Given the description of an element on the screen output the (x, y) to click on. 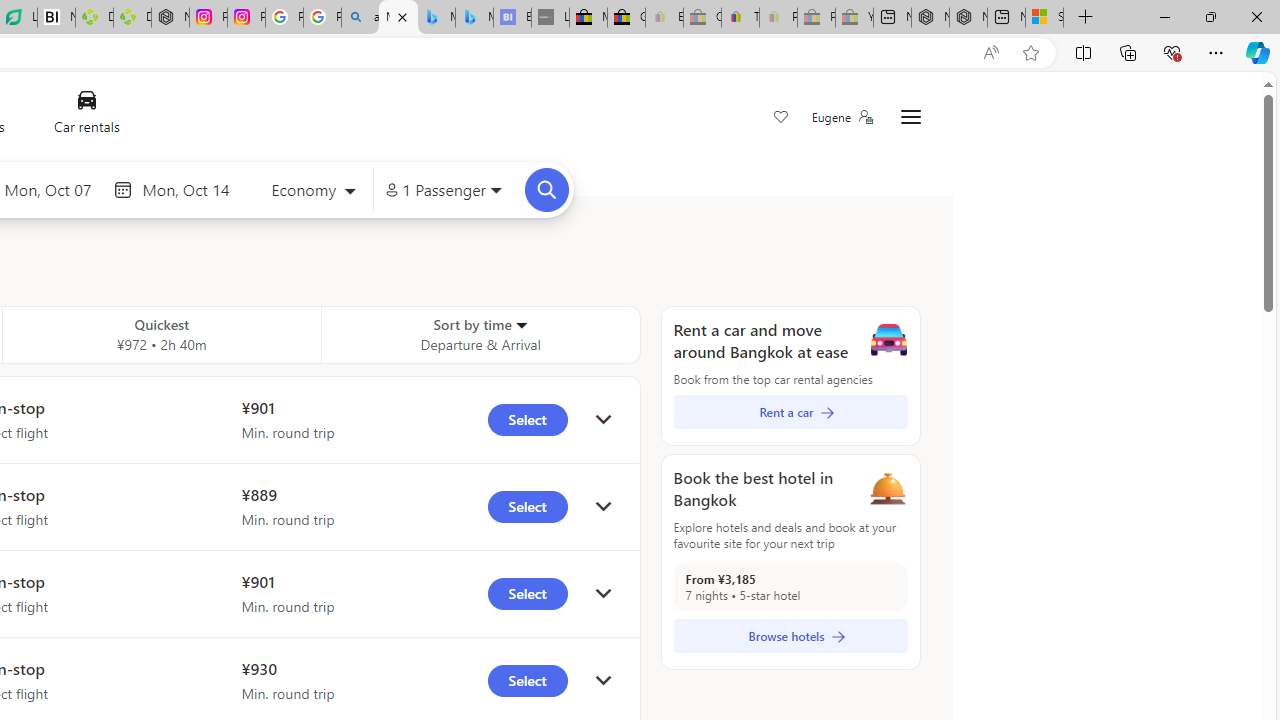
1 Passenger (443, 189)
alabama high school quarterback dies - Search (359, 17)
Microsoft Bing Travel - Shangri-La Hotel Bangkok (473, 17)
Press Room - eBay Inc. - Sleeping (815, 17)
Nordace - Nordace Edin Collection (170, 17)
Microsoft Bing Travel - Flights from Hong Kong to Bangkok (398, 17)
